Given the description of an element on the screen output the (x, y) to click on. 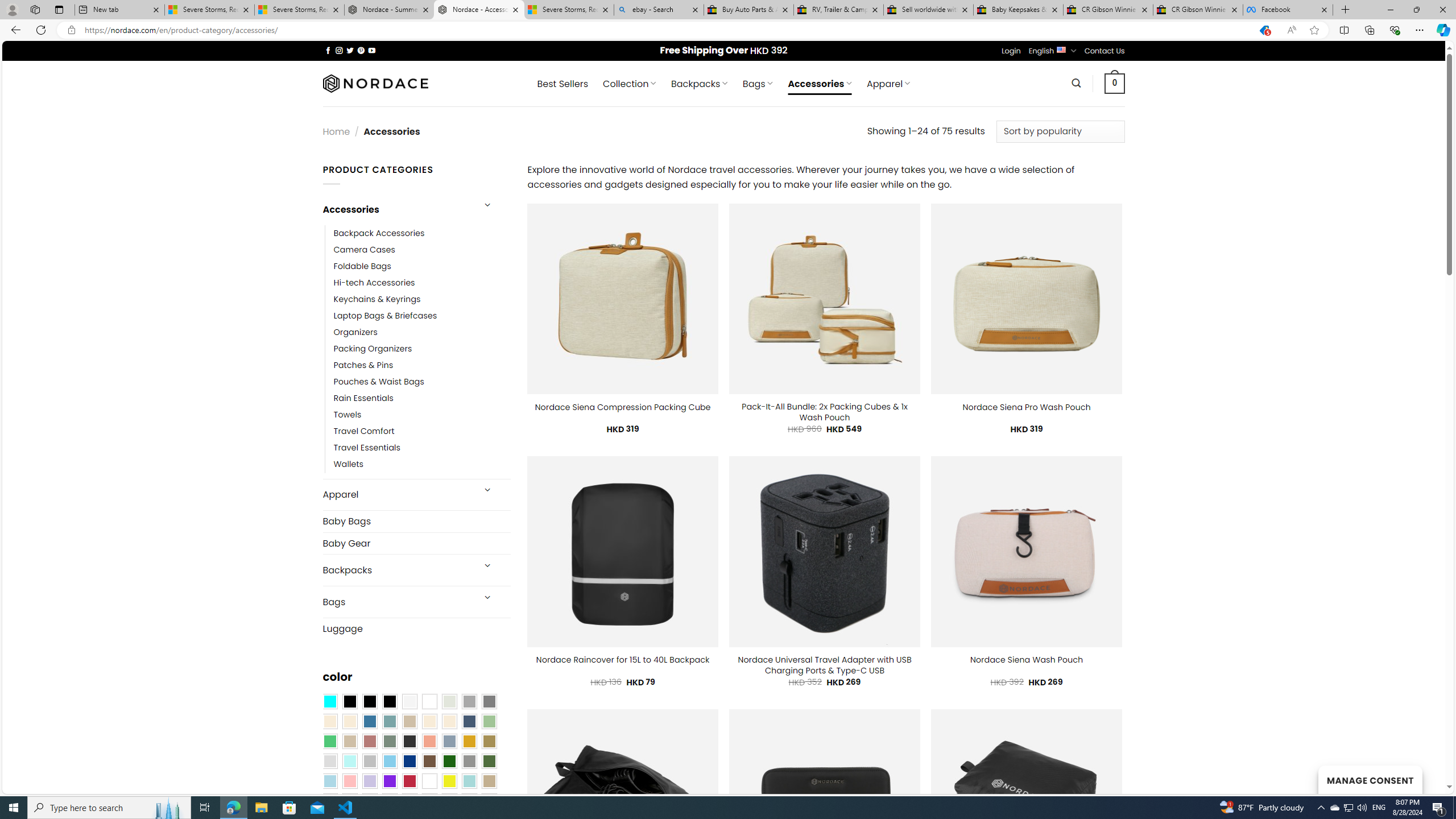
Rain Essentials (422, 398)
Facebook (1287, 9)
  0   (1115, 83)
  Best Sellers (562, 83)
Brown (429, 761)
Aqua (468, 780)
Contact Us (1104, 50)
Wallets (348, 464)
Packing Organizers (372, 348)
Laptop Bags & Briefcases (384, 316)
Nordace Raincover for 15L to 40L Backpack (622, 659)
Yellow (449, 780)
